Given the description of an element on the screen output the (x, y) to click on. 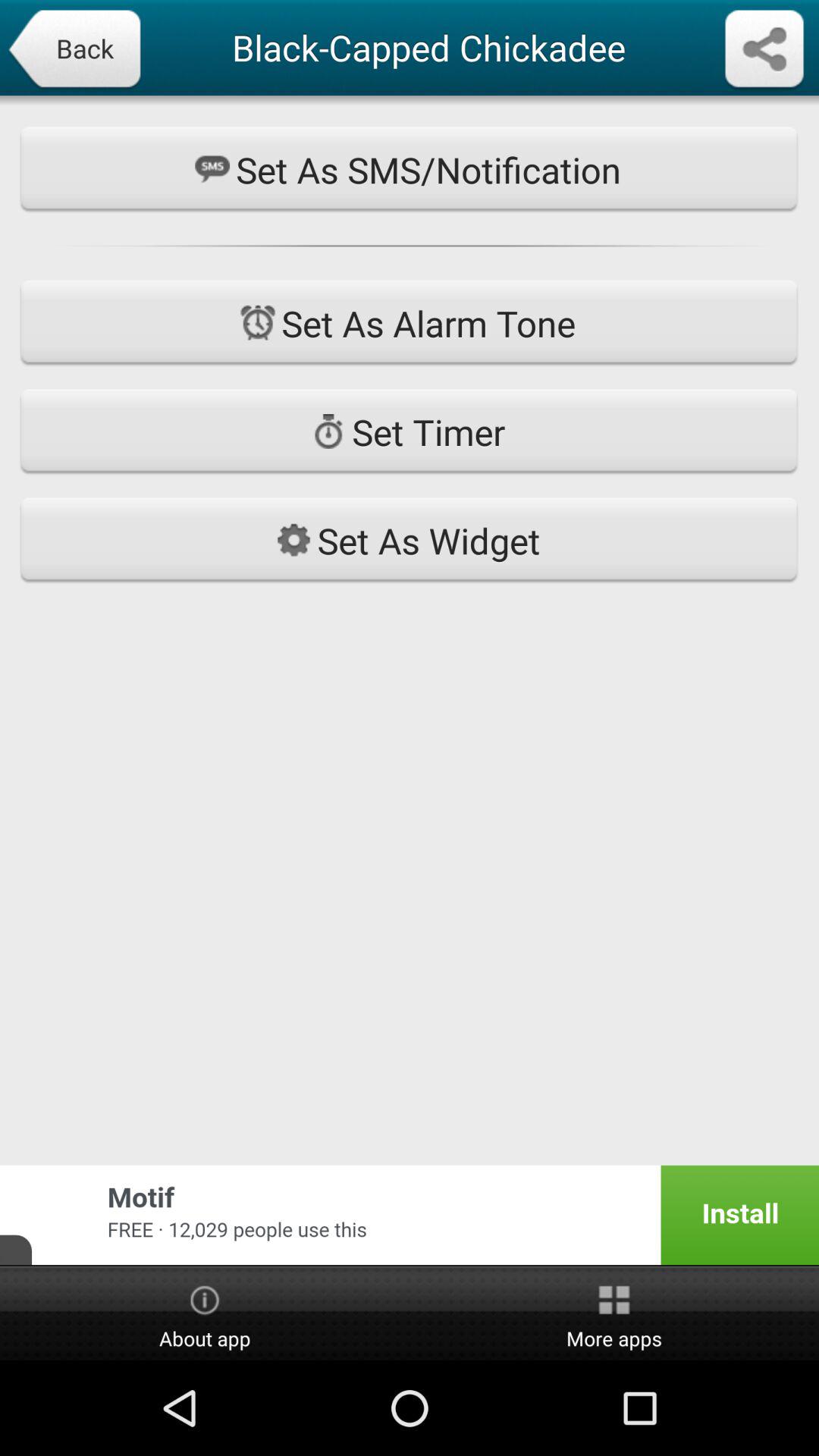
download content (764, 50)
